Given the description of an element on the screen output the (x, y) to click on. 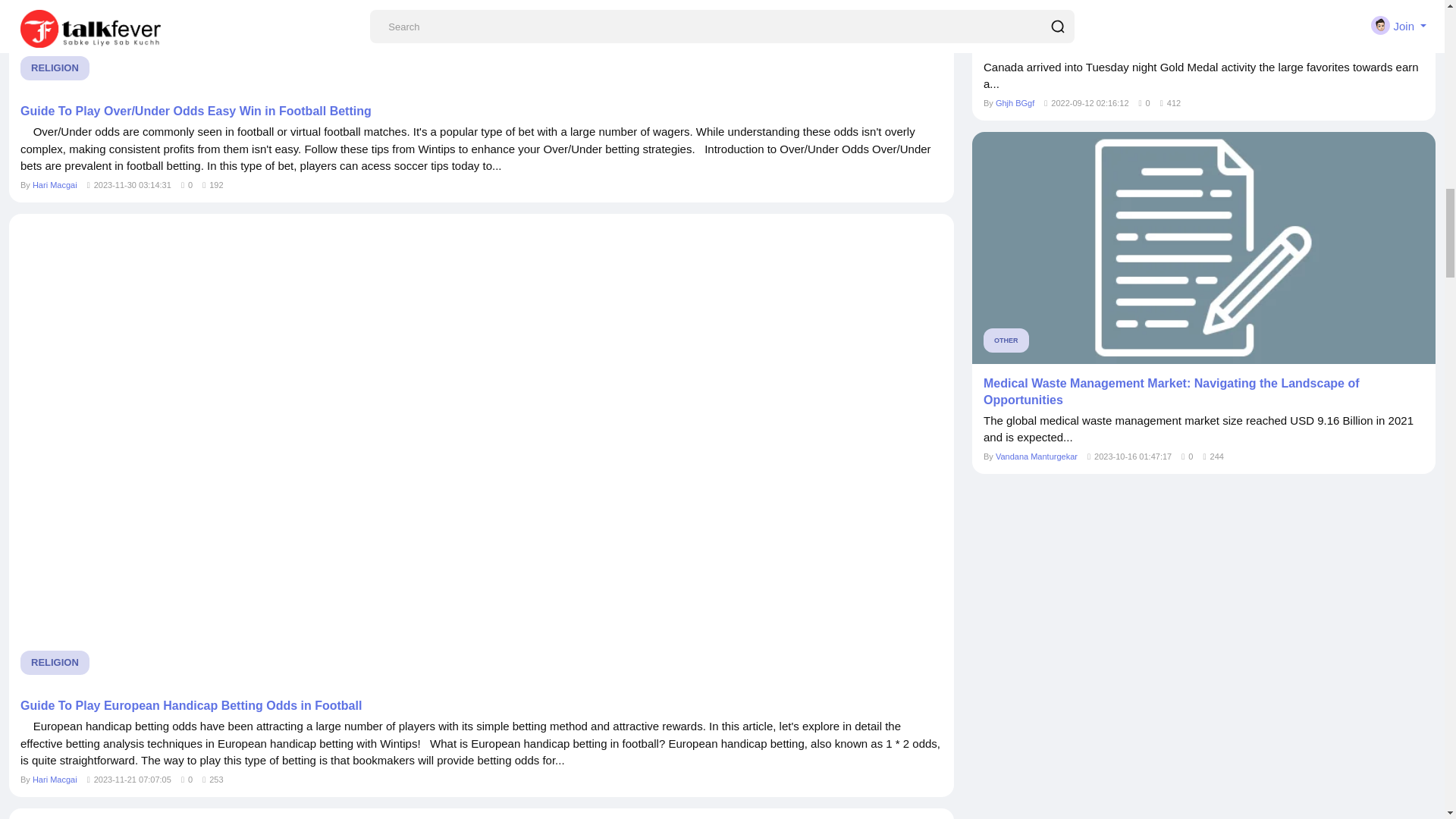
RELIGION (54, 662)
Guide To Play European Handicap Betting Odds in Football (481, 705)
RELIGION (54, 68)
Hari Macgai (54, 778)
Hari Macgai (54, 184)
